Given the description of an element on the screen output the (x, y) to click on. 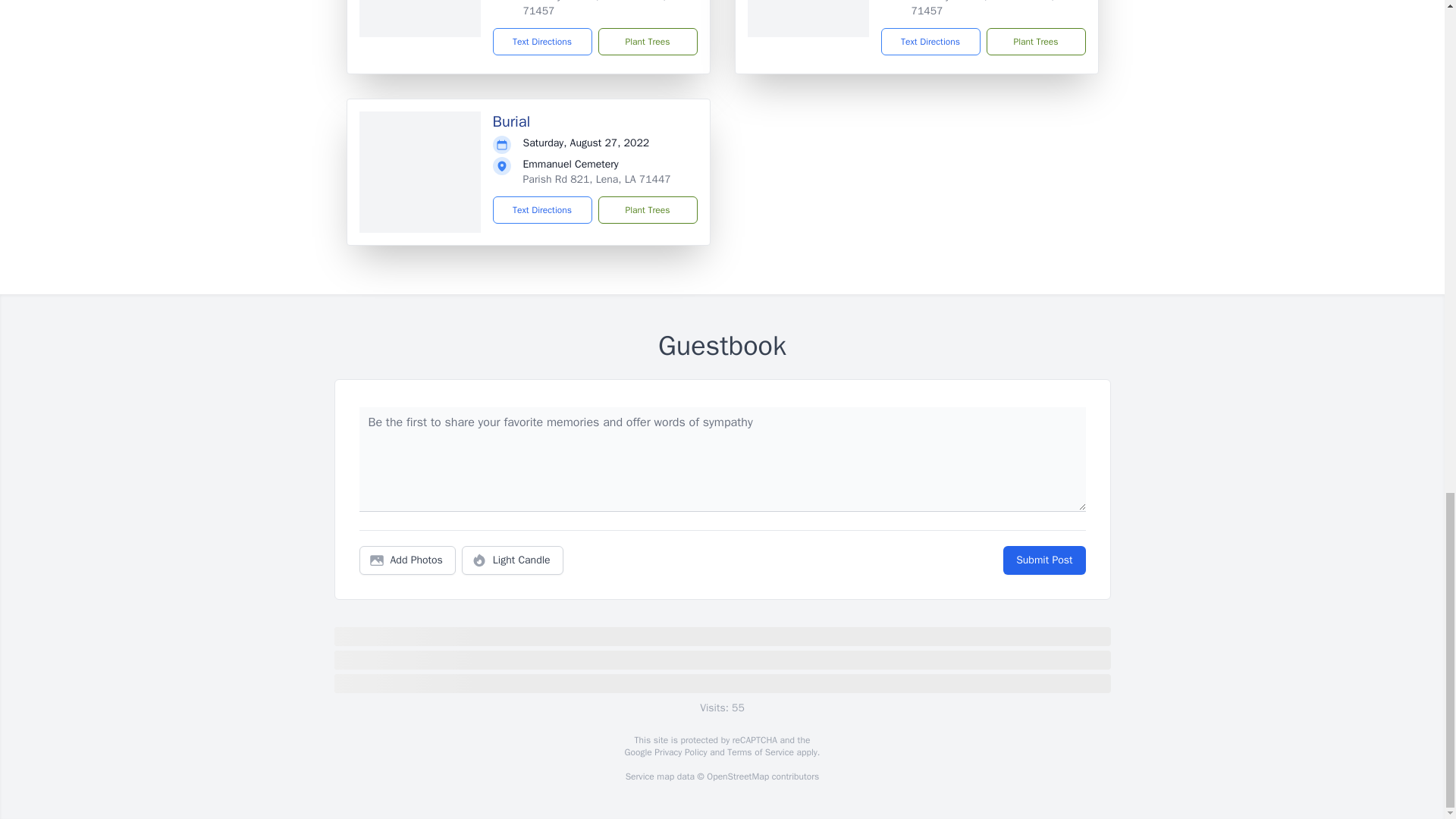
848 Keyser Ave, Natchitoches, LA 71457 (989, 8)
Privacy Policy (679, 752)
Text Directions (542, 209)
Plant Trees (1034, 41)
Parish Rd 821, Lena, LA 71447 (596, 178)
Light Candle (512, 560)
Text Directions (929, 41)
Plant Trees (646, 209)
Text Directions (542, 41)
Plant Trees (646, 41)
